Given the description of an element on the screen output the (x, y) to click on. 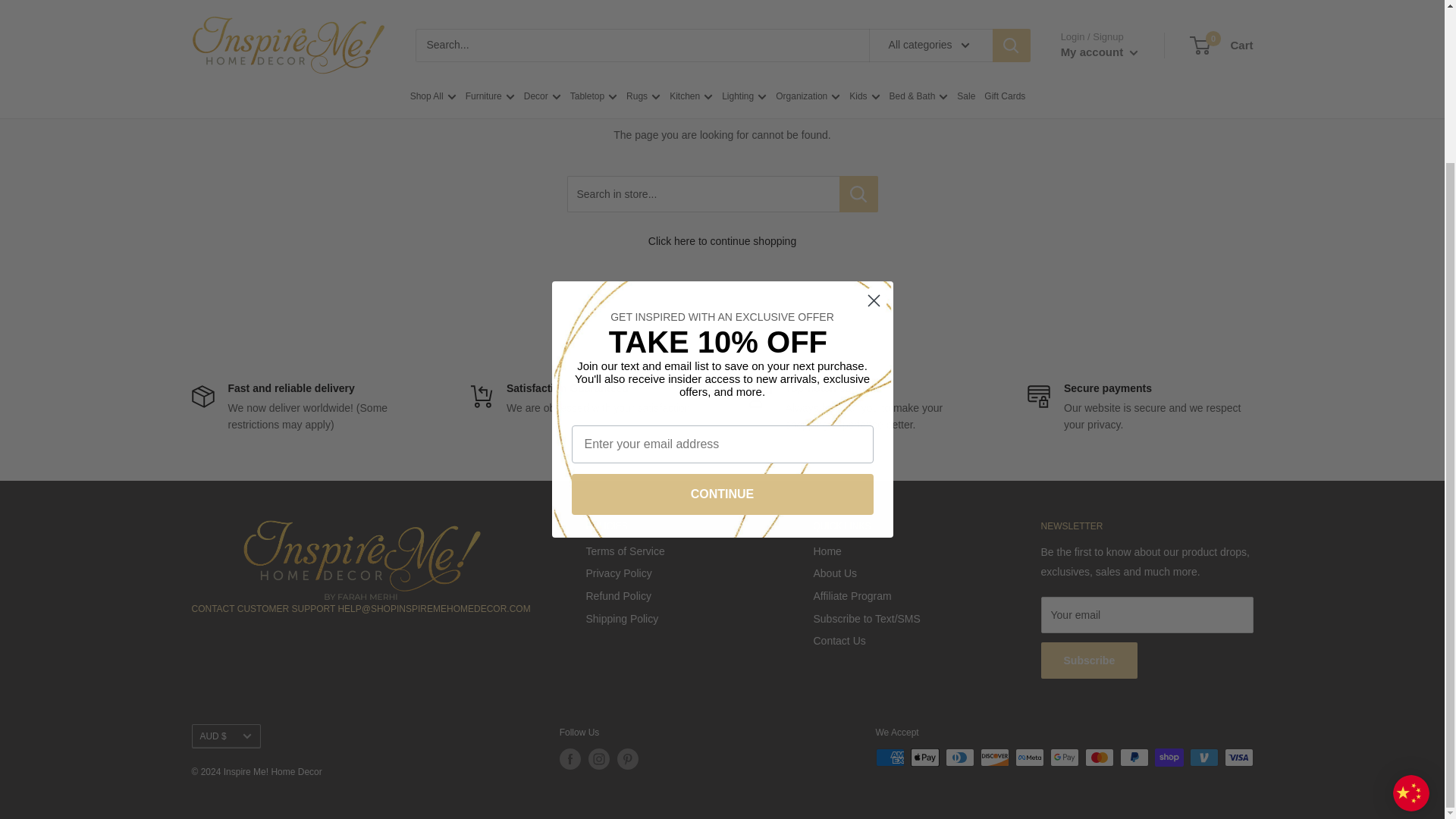
Open Zonos Hello (1411, 600)
